Given the description of an element on the screen output the (x, y) to click on. 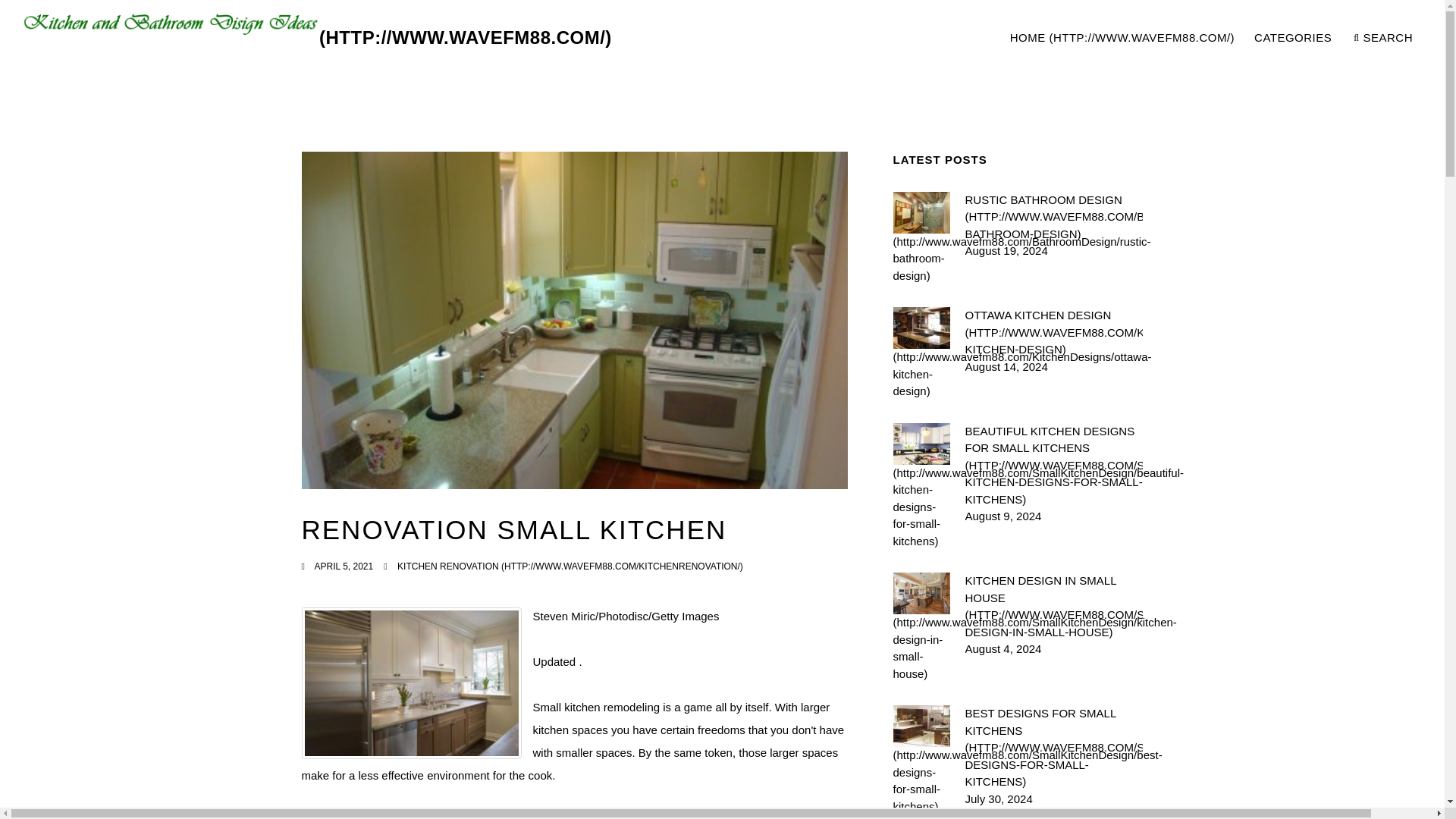
OTTAWA KITCHEN DESIGN (1052, 332)
RUSTIC BATHROOM DESIGN (1052, 216)
BEAUTIFUL KITCHEN DESIGNS FOR SMALL KITCHENS (1052, 465)
Kitchen and Bathroom Design Ideas (317, 38)
HOME (1122, 38)
CATEGORIES (1293, 38)
KITCHEN RENOVATION (569, 566)
KITCHEN DESIGN IN SMALL HOUSE (1210, 38)
SEARCH (1052, 606)
